Given the description of an element on the screen output the (x, y) to click on. 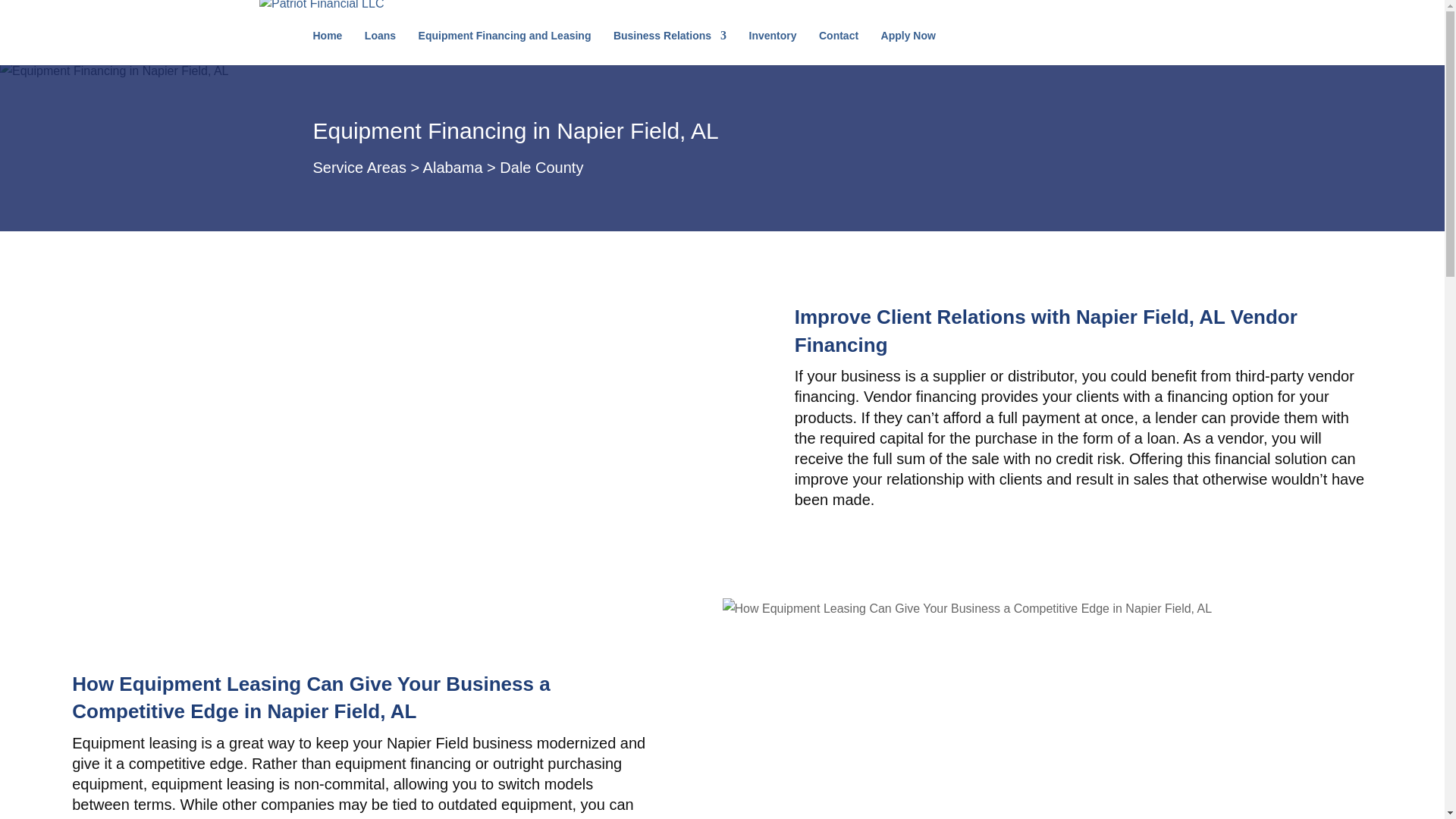
Dale County (541, 167)
Loans (380, 47)
Apply Now (908, 47)
Service Areas (359, 167)
Equipment Financing and Leasing (505, 47)
Business Relations (669, 47)
Equipment Financing in Napier Field, AL (114, 70)
Contact (838, 47)
Inventory (772, 47)
